Given the description of an element on the screen output the (x, y) to click on. 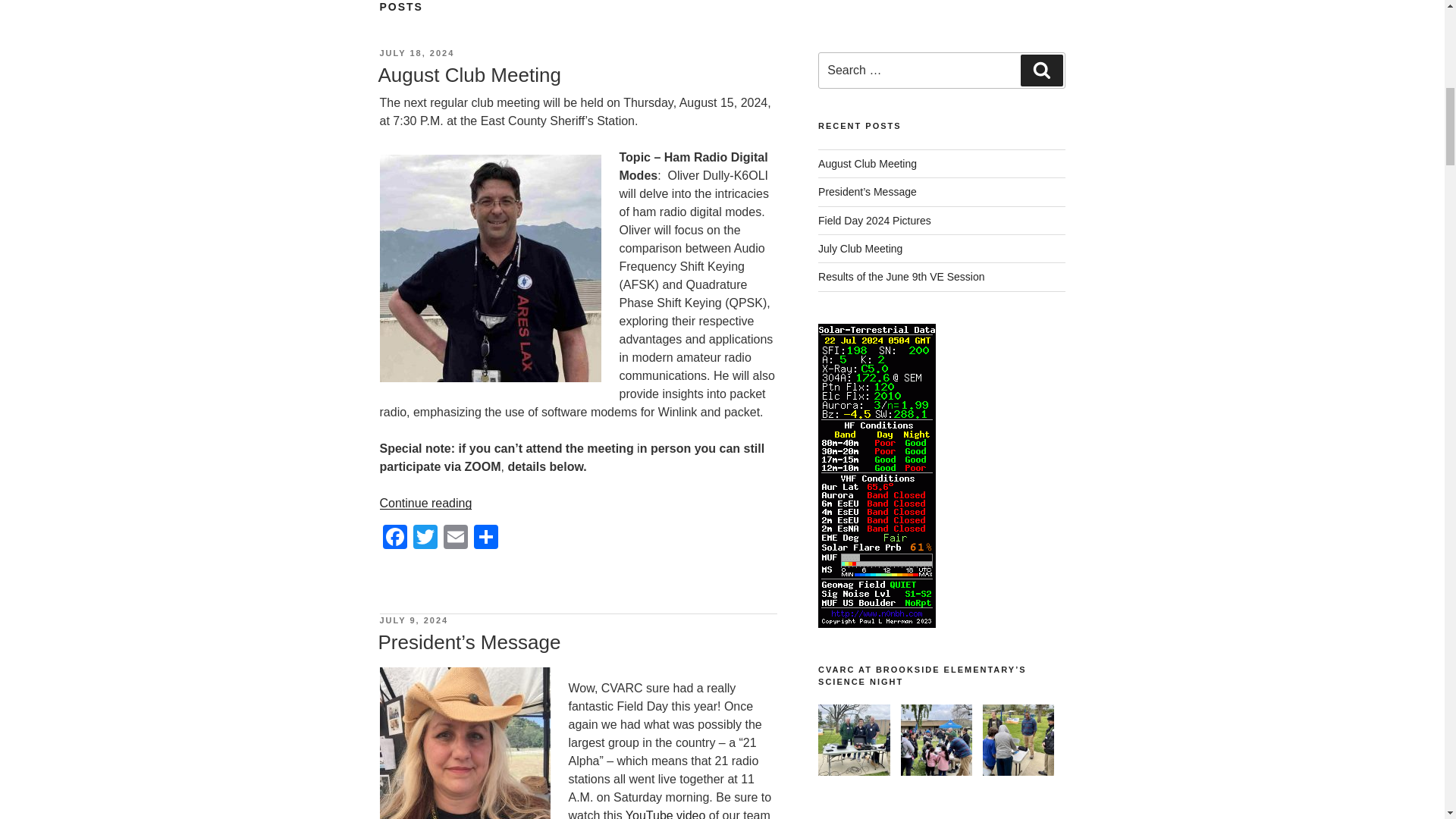
Twitter (424, 538)
Facebook (393, 538)
August Club Meeting (468, 74)
JULY 18, 2024 (416, 52)
JULY 9, 2024 (413, 619)
Email (454, 538)
Facebook (393, 538)
Share (485, 538)
Email (454, 538)
Twitter (424, 538)
